Given the description of an element on the screen output the (x, y) to click on. 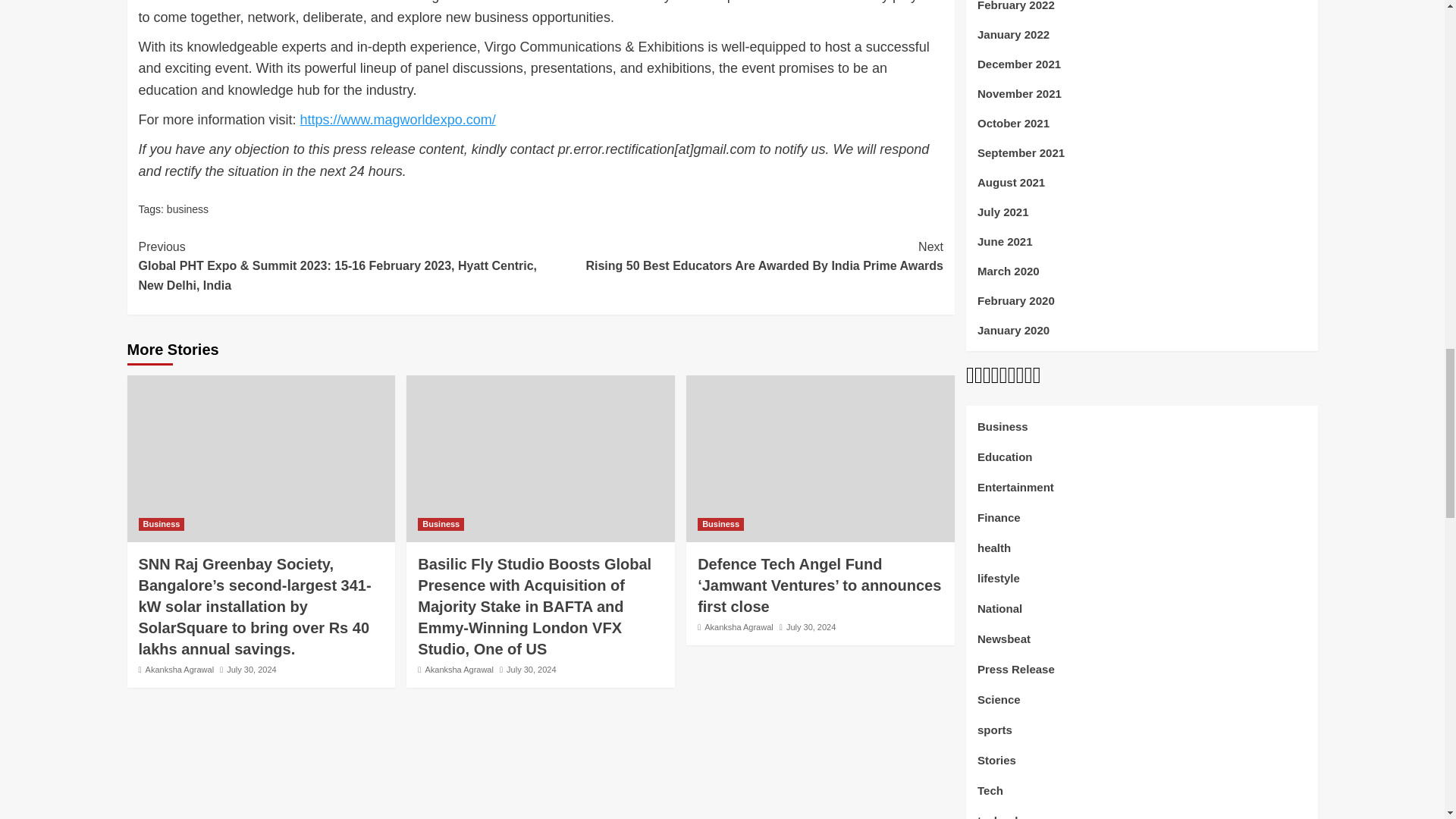
July 30, 2024 (251, 669)
Akanksha Agrawal (179, 669)
Business (161, 523)
Akanksha Agrawal (459, 669)
July 30, 2024 (531, 669)
Business (440, 523)
business (187, 209)
